Given the description of an element on the screen output the (x, y) to click on. 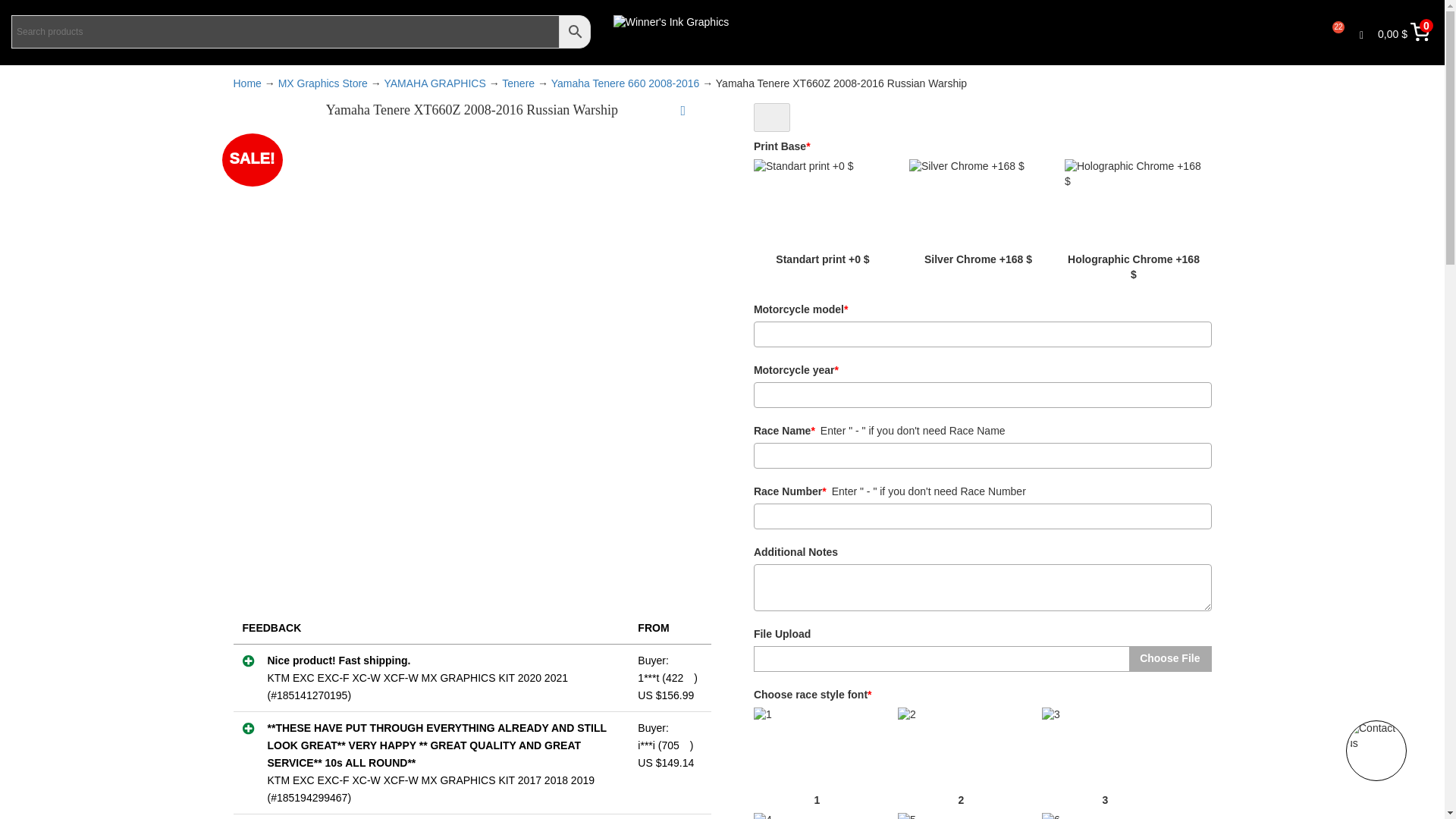
Yamaha Tenere 660 2008-2016 (625, 82)
Tenere (518, 82)
Yamaha Tenere 660 2008-2016 (625, 82)
Home (247, 82)
Home (247, 82)
YAMAHA GRAPHICS (434, 82)
YAMAHA GRAPHICS (434, 82)
Tenere (518, 82)
MX Graphics Store (323, 82)
MX Graphics Store (323, 82)
